Given the description of an element on the screen output the (x, y) to click on. 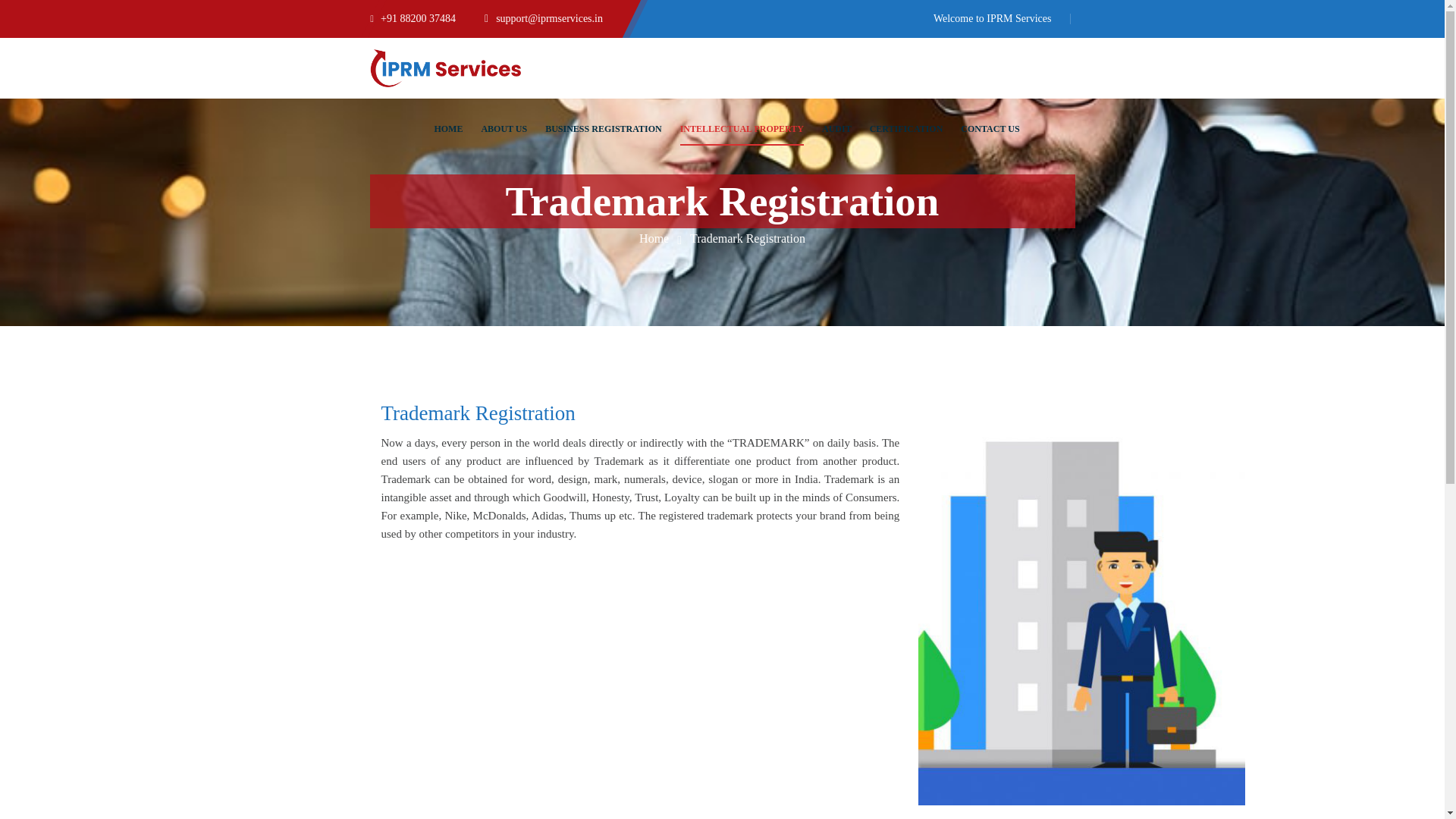
Iprmservices (445, 67)
Iprmservices (653, 237)
Welcome to IPRM Services (992, 18)
BUSINESS REGISTRATION (603, 128)
INTELLECTUAL PROPERTY (741, 128)
